Given the description of an element on the screen output the (x, y) to click on. 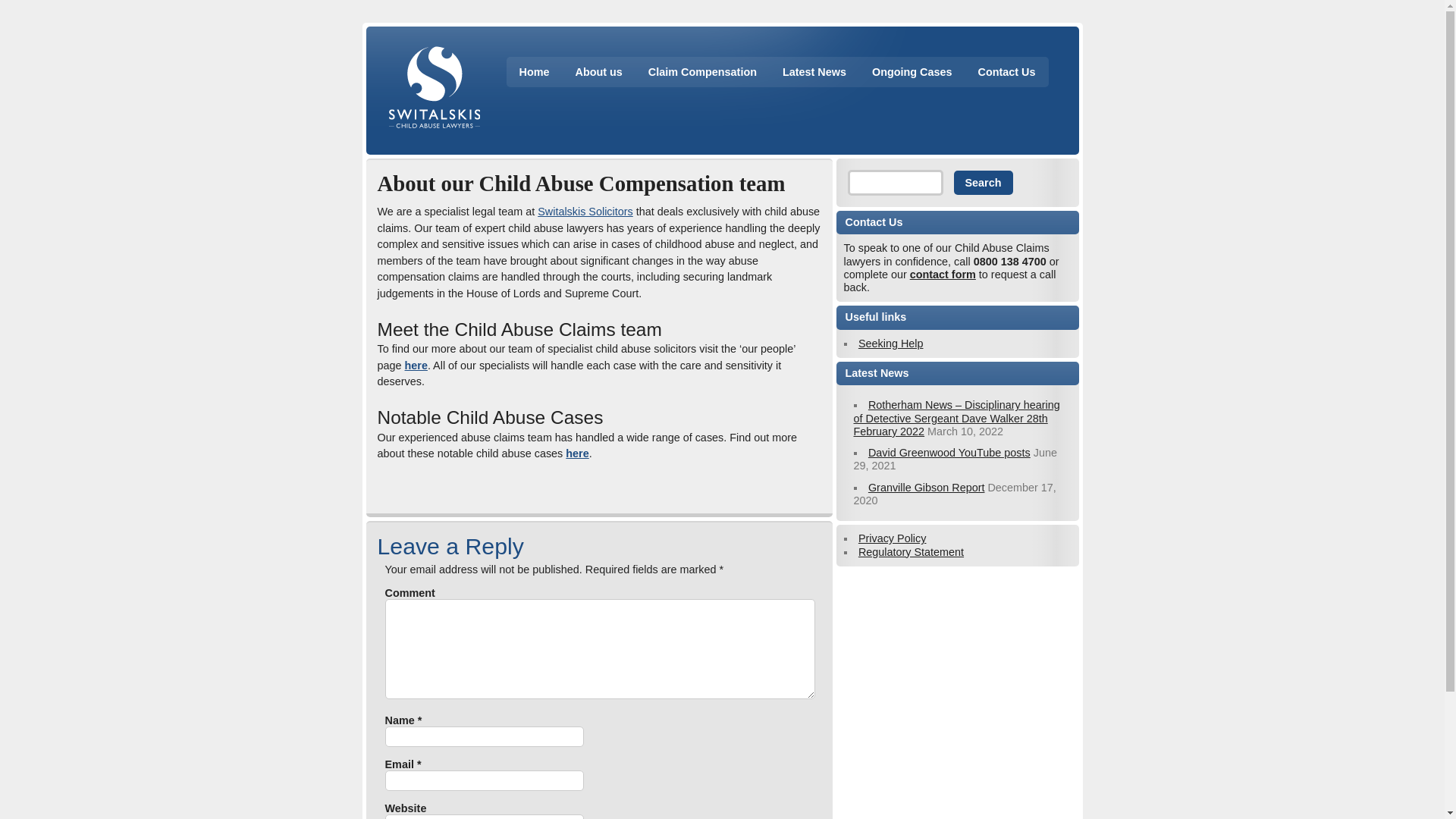
Switalskis Solicitors LLP (585, 211)
here (416, 365)
Switalskis Solicitors (585, 211)
Latest News (814, 71)
Ongoing Cases (912, 71)
About us (598, 71)
Granville Gibson Report (926, 487)
Privacy Policy (892, 538)
Seeking Help (891, 343)
Contact Us (1006, 71)
